Given the description of an element on the screen output the (x, y) to click on. 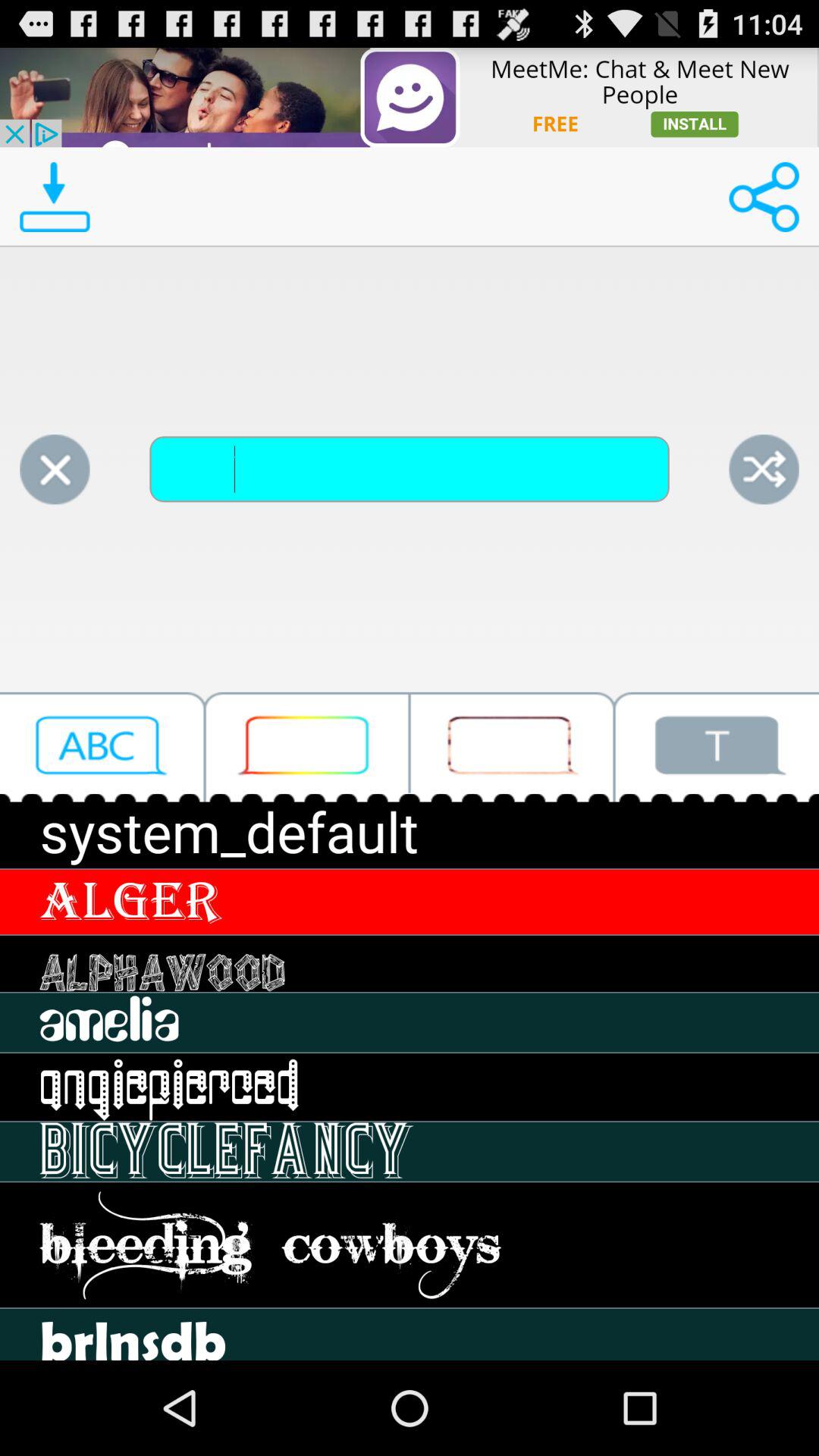
cancel option (54, 469)
